Given the description of an element on the screen output the (x, y) to click on. 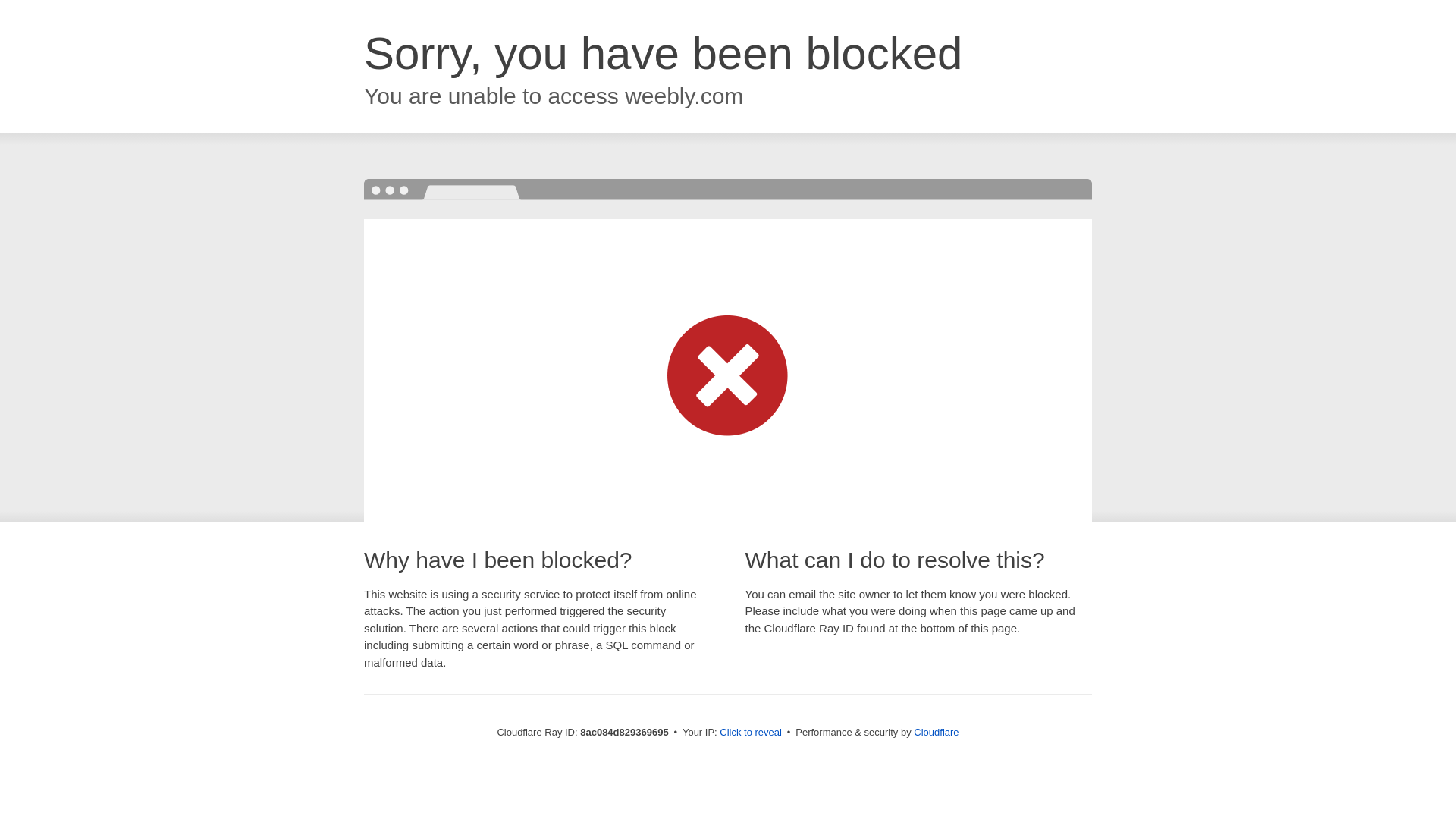
Cloudflare (936, 731)
Click to reveal (750, 732)
